Given the description of an element on the screen output the (x, y) to click on. 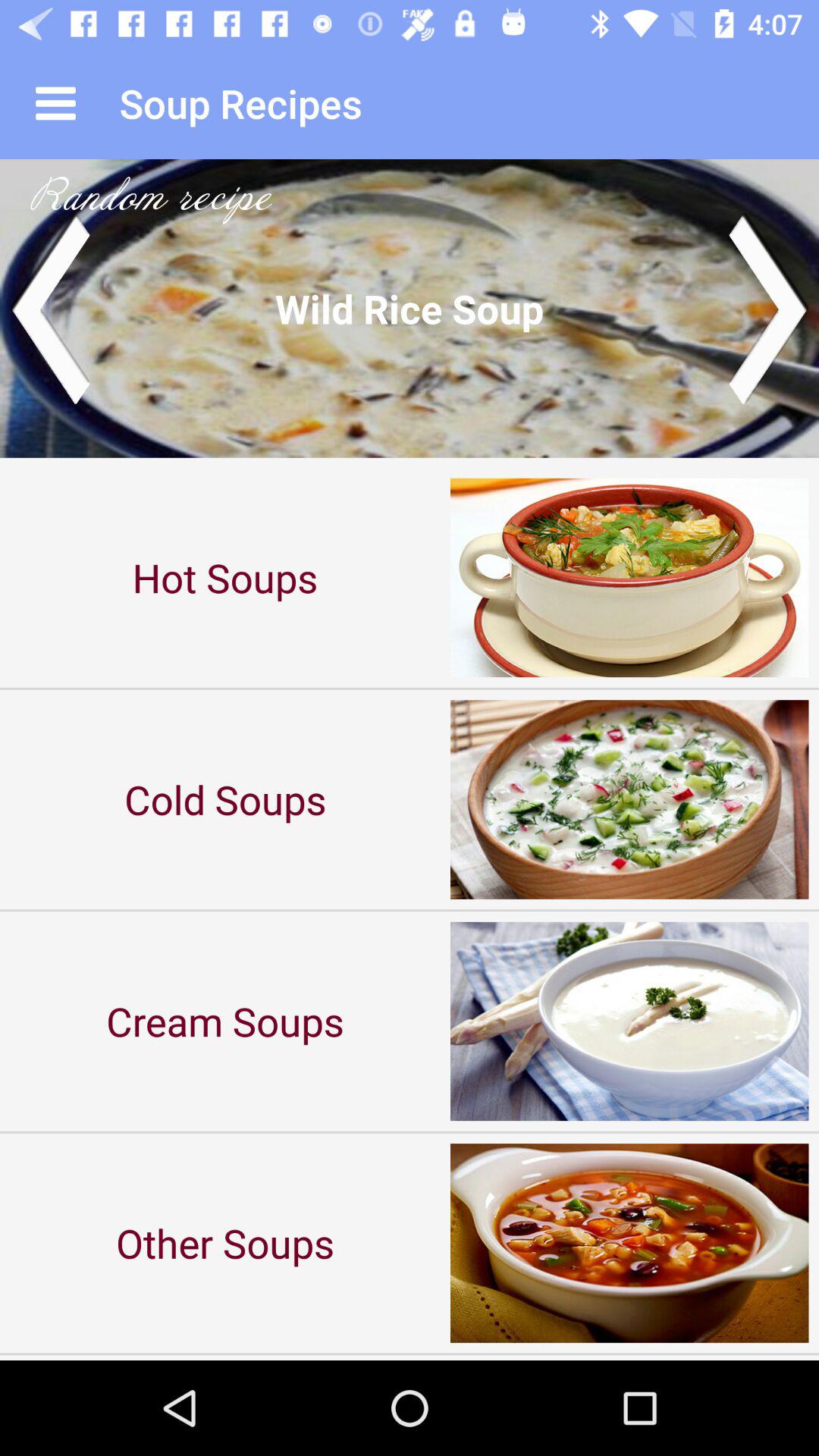
flip until hot soups icon (225, 577)
